Given the description of an element on the screen output the (x, y) to click on. 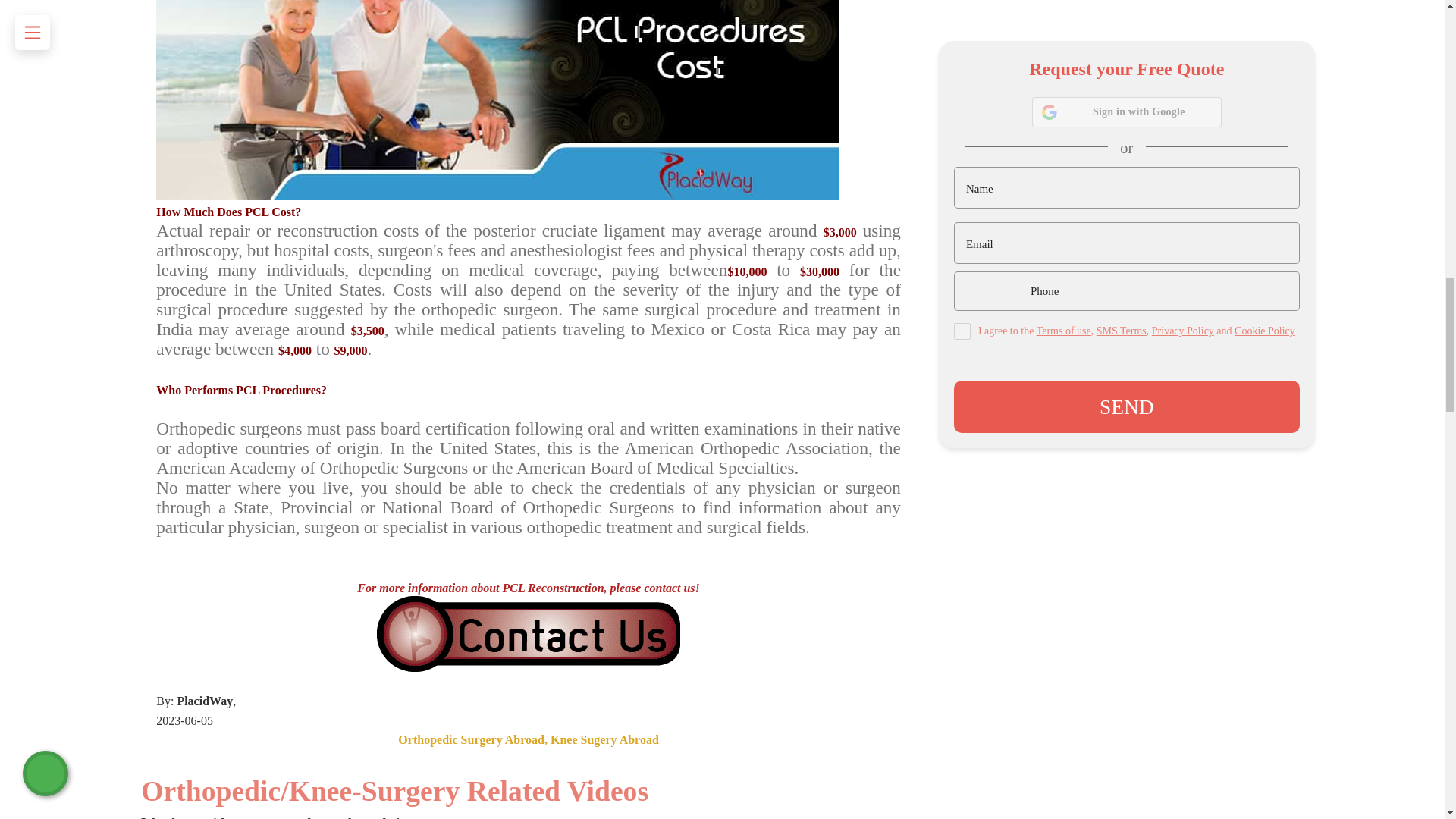
Contact Us For More Info (528, 633)
